Given the description of an element on the screen output the (x, y) to click on. 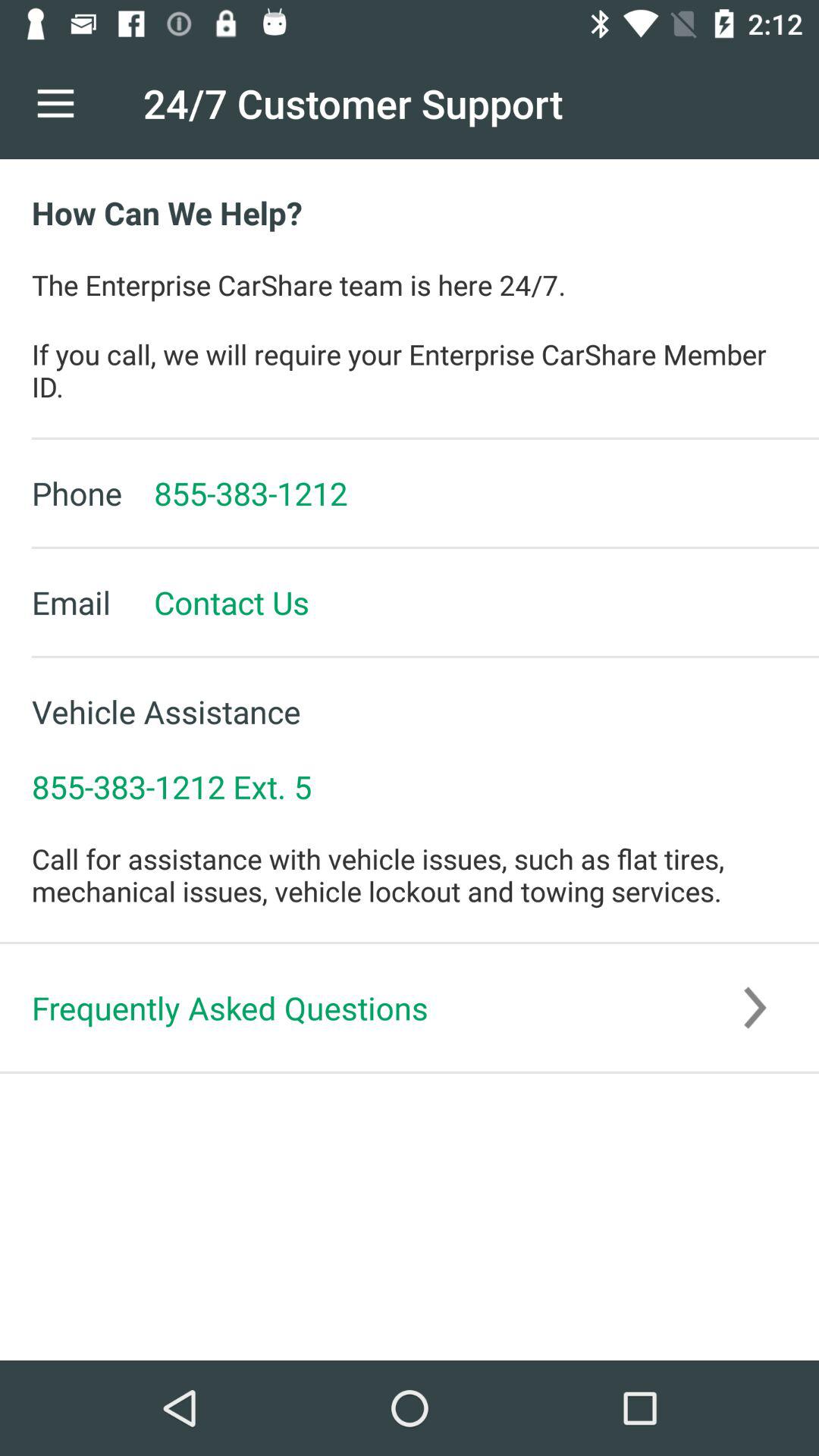
turn off item to the right of the email icon (215, 601)
